Given the description of an element on the screen output the (x, y) to click on. 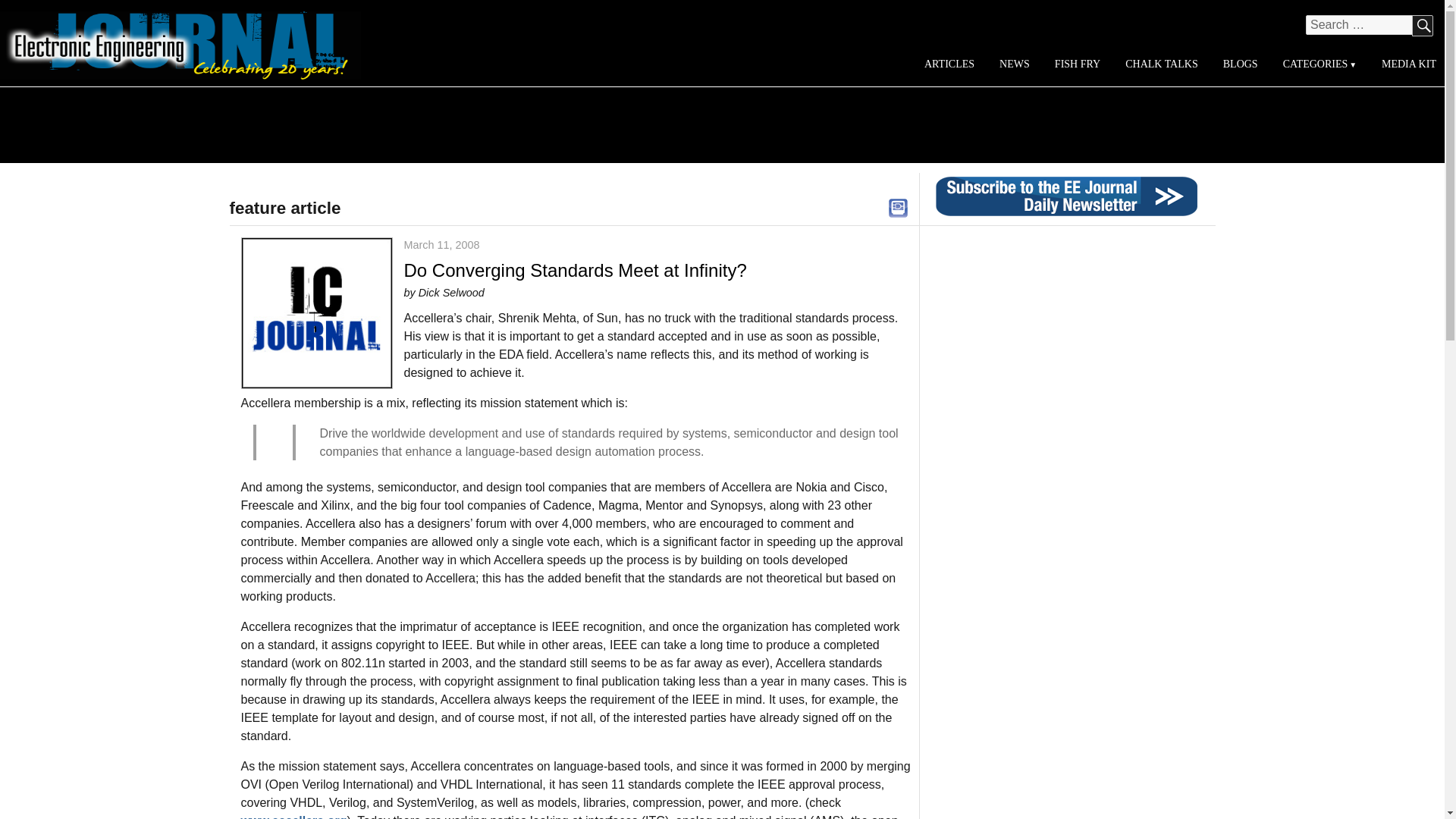
FISH FRY (1077, 63)
EDA (898, 206)
CATEGORIES (1318, 63)
www.accellera.org (294, 816)
CHALK TALKS (1161, 63)
NEWS (1014, 63)
ARTICLES (949, 63)
BLOGS (1239, 63)
